Given the description of an element on the screen output the (x, y) to click on. 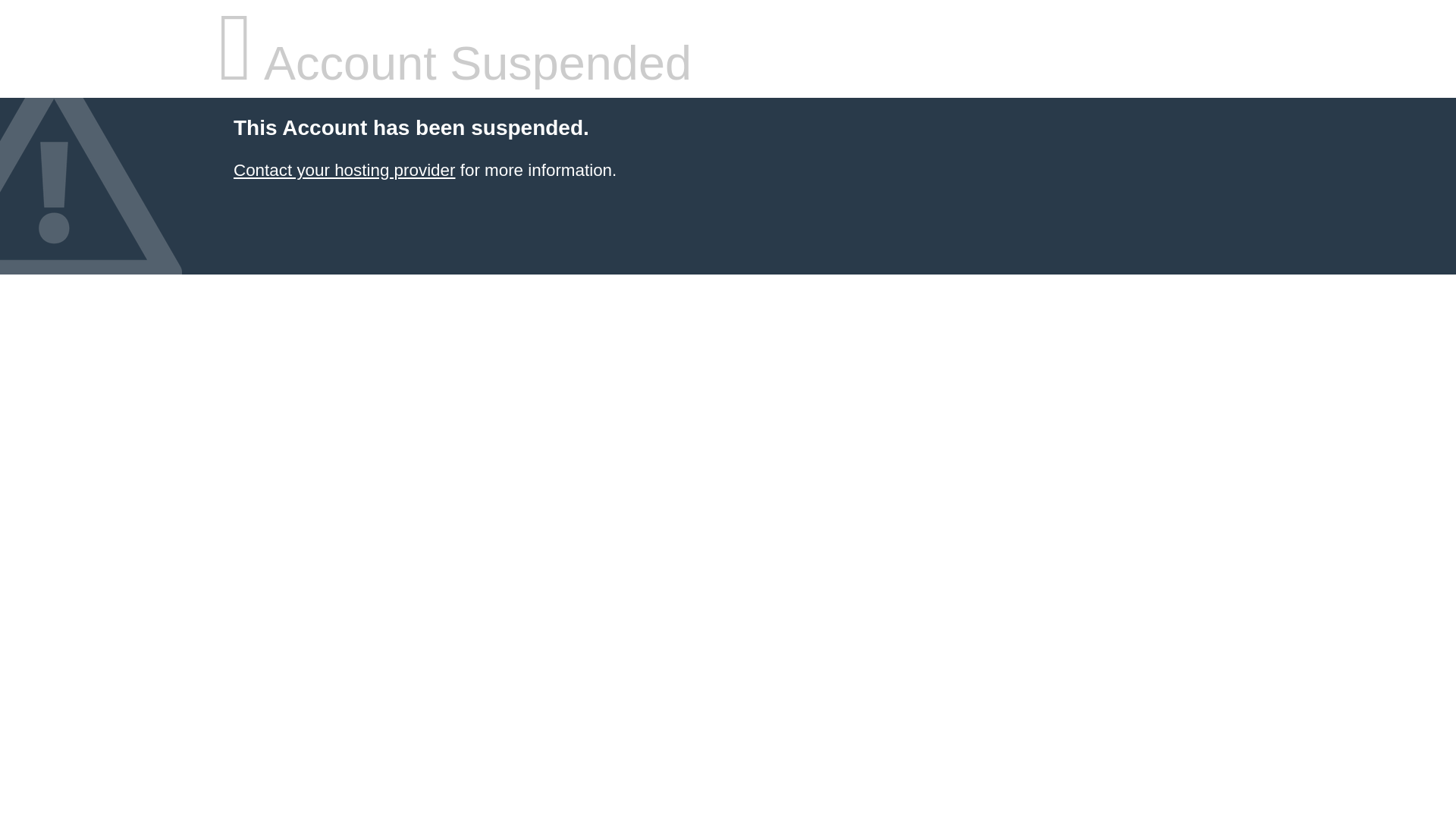
Contact your hosting provider (343, 169)
